Given the description of an element on the screen output the (x, y) to click on. 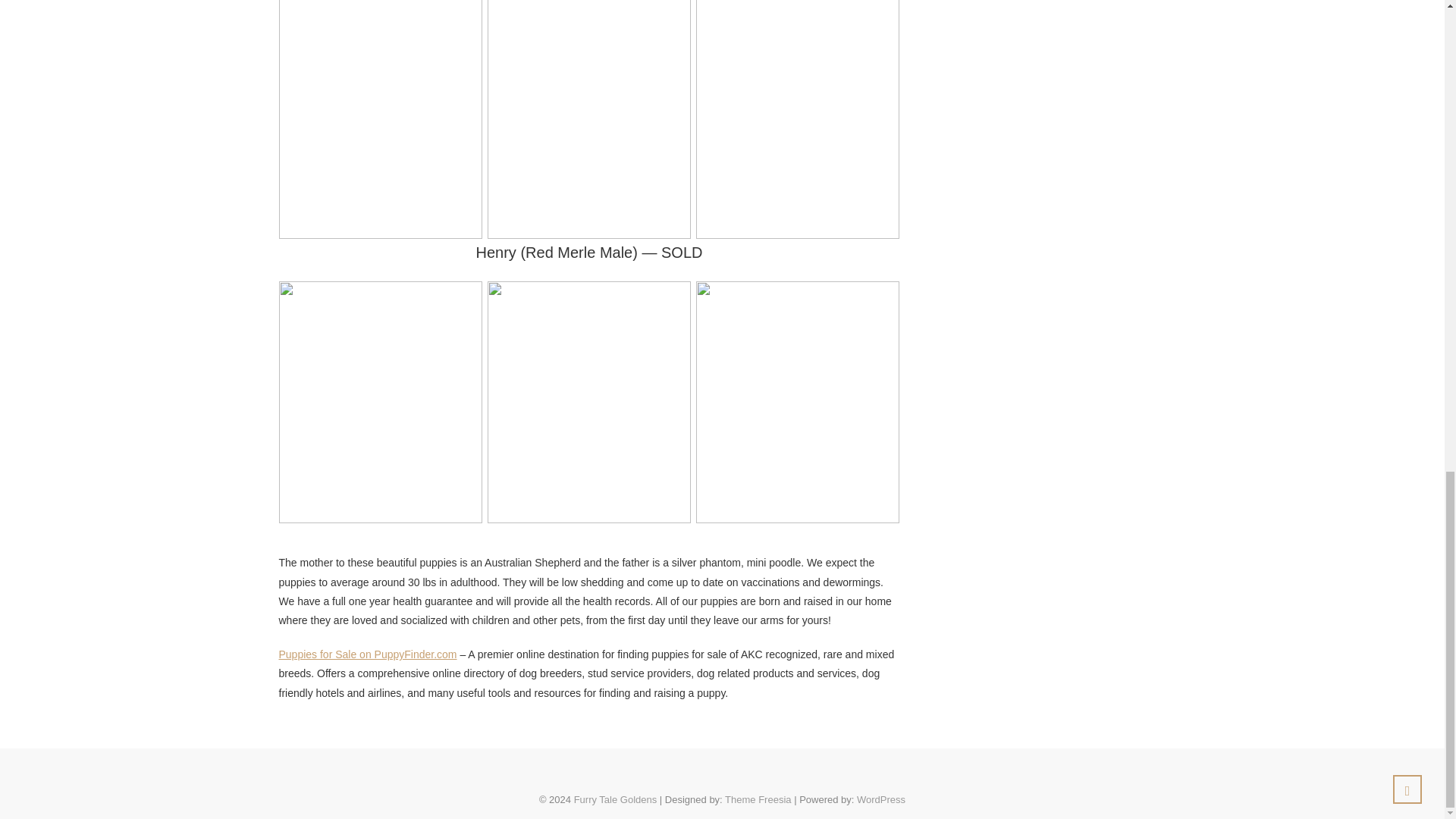
Puppies for Sale on PuppyFinder.com (368, 654)
WordPress (881, 799)
Theme Freesia (757, 799)
Theme Freesia (757, 799)
Furry Tale Goldens (615, 799)
Furry Tale Goldens (615, 799)
WordPress (881, 799)
